Given the description of an element on the screen output the (x, y) to click on. 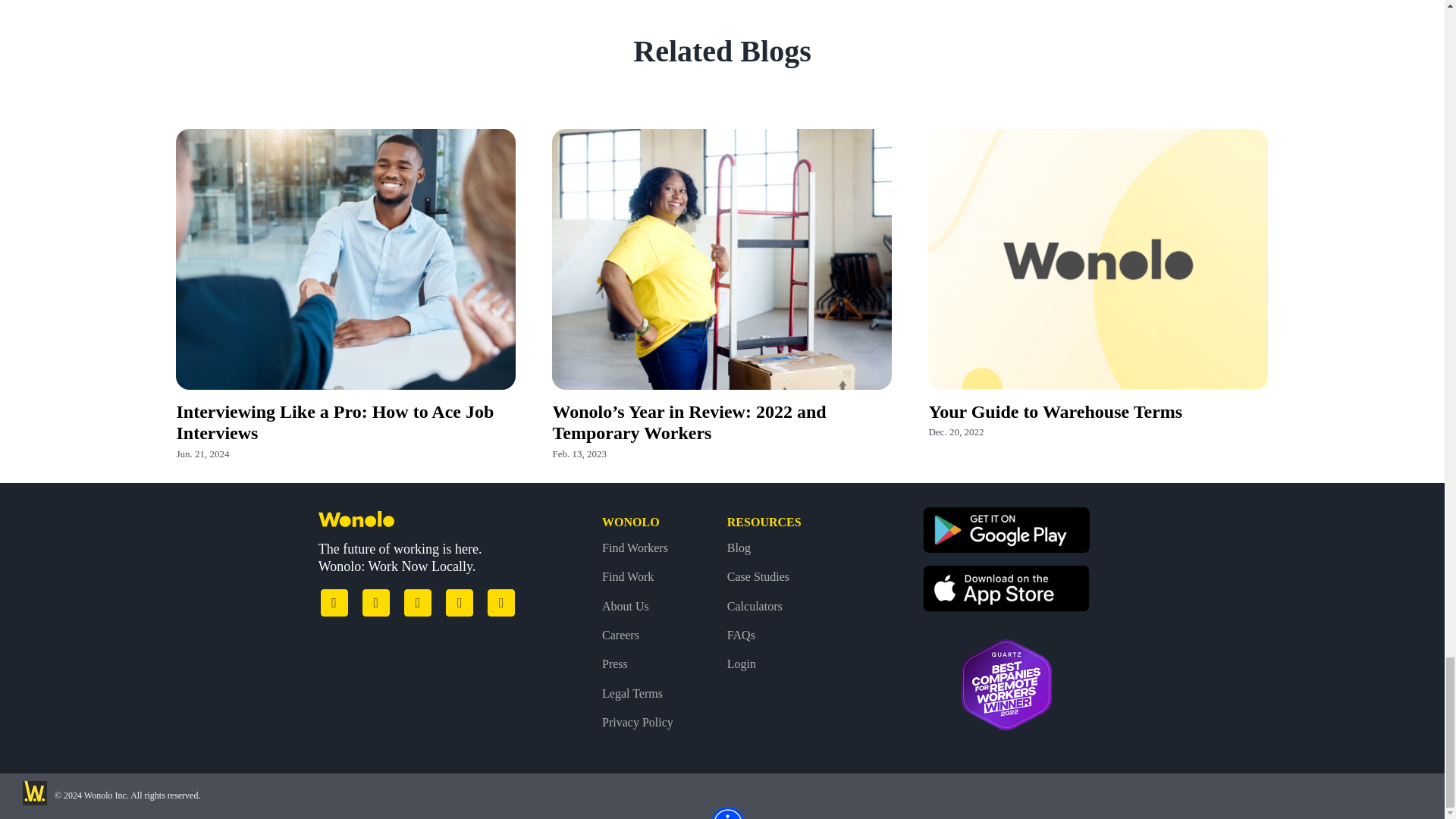
Interviewing Like a Pro: How to Ace Job Interviews (334, 422)
Your Guide to Warehouse Terms (1055, 411)
